Given the description of an element on the screen output the (x, y) to click on. 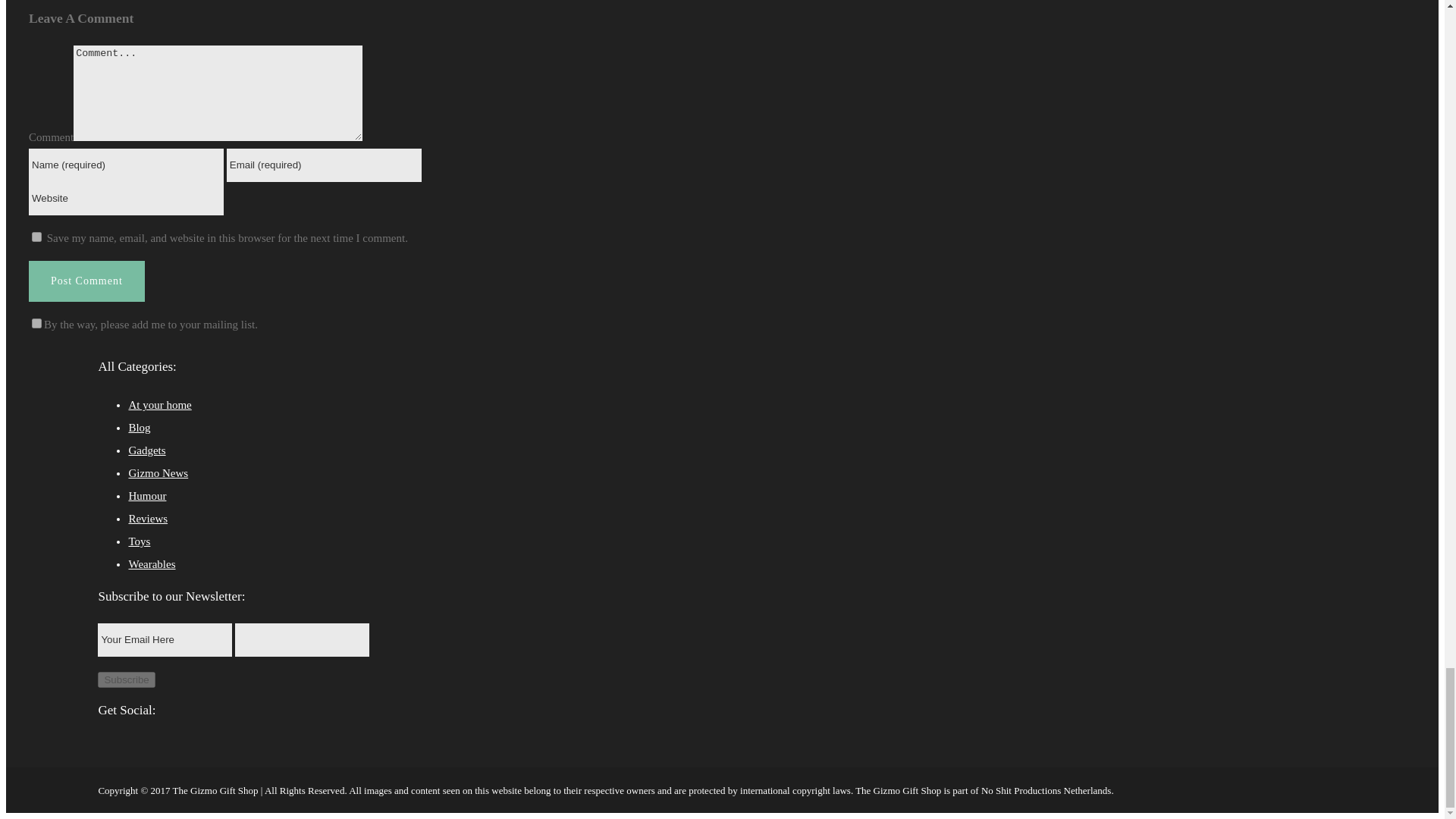
Your Email Here (164, 639)
yes (37, 236)
1 (37, 323)
Post Comment (86, 281)
Subscribe (125, 679)
